Given the description of an element on the screen output the (x, y) to click on. 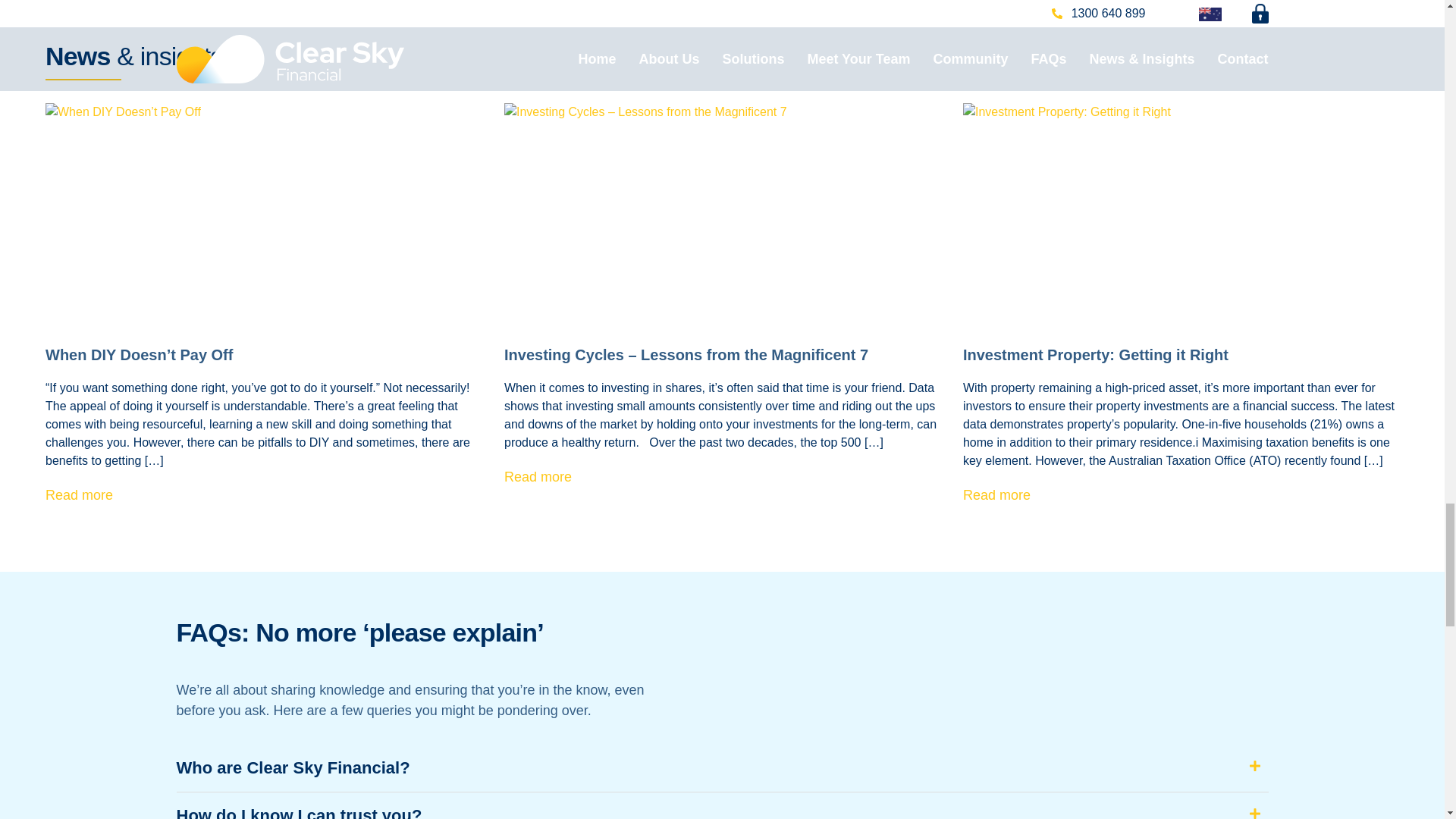
How do I know I can trust you? (299, 812)
Read more (79, 495)
Who are Clear Sky Financial? (292, 767)
Read more (996, 495)
Investment Property: Getting it Right (1095, 354)
Read more (537, 477)
